Given the description of an element on the screen output the (x, y) to click on. 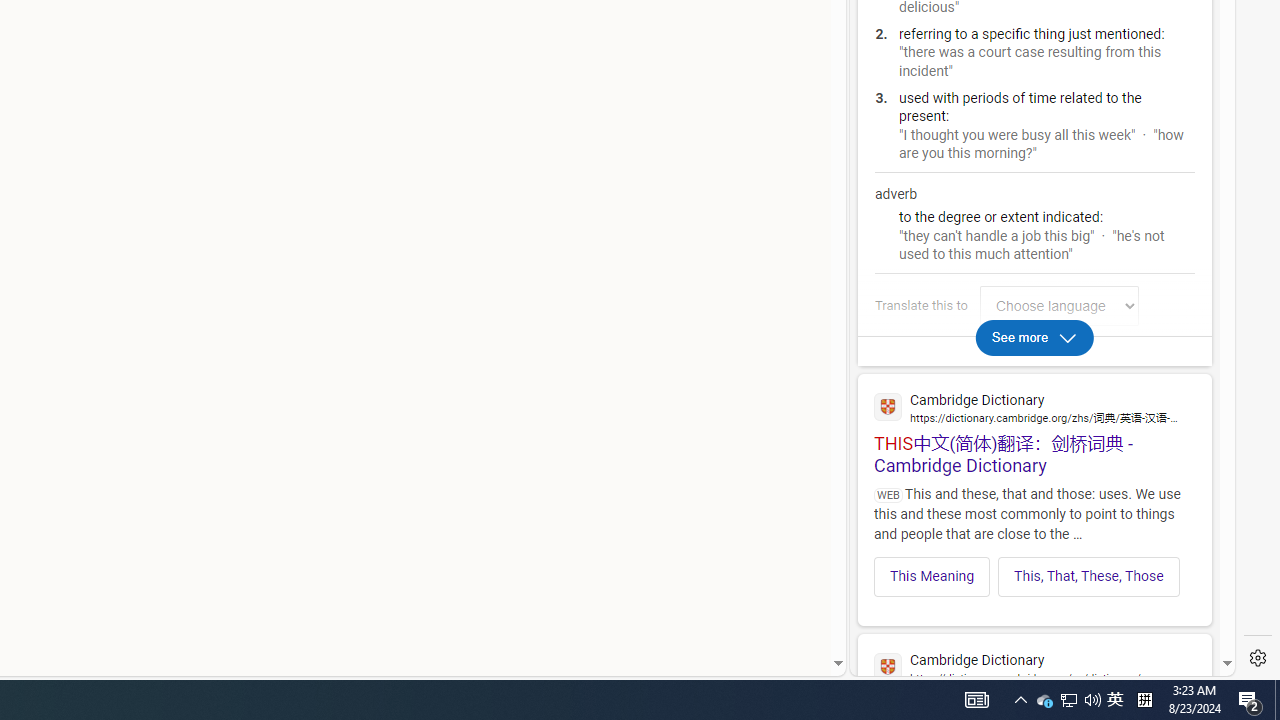
This MeaningThis, That, These, Those (1034, 570)
This, That, These, Those (1089, 575)
Cambridge Dictionary (1034, 666)
This, That, These, Those (1088, 575)
This Meaning (932, 575)
Link for logging (1064, 305)
Translate this to Choose language (1059, 305)
This Meaning (932, 575)
